Given the description of an element on the screen output the (x, y) to click on. 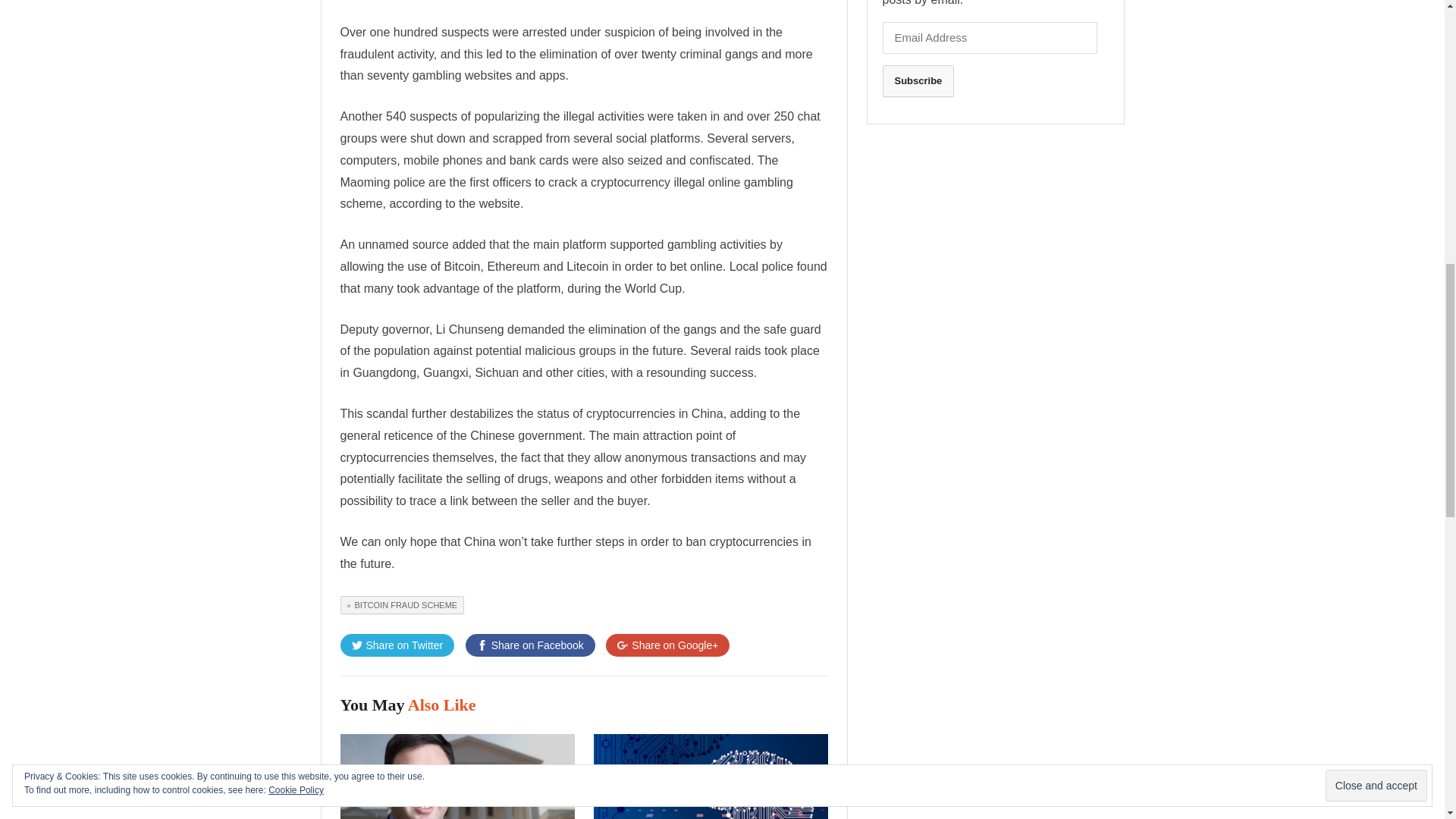
Share on Twitter (396, 644)
BITCOIN FRAUD SCHEME (401, 605)
Share on Facebook (530, 644)
